Given the description of an element on the screen output the (x, y) to click on. 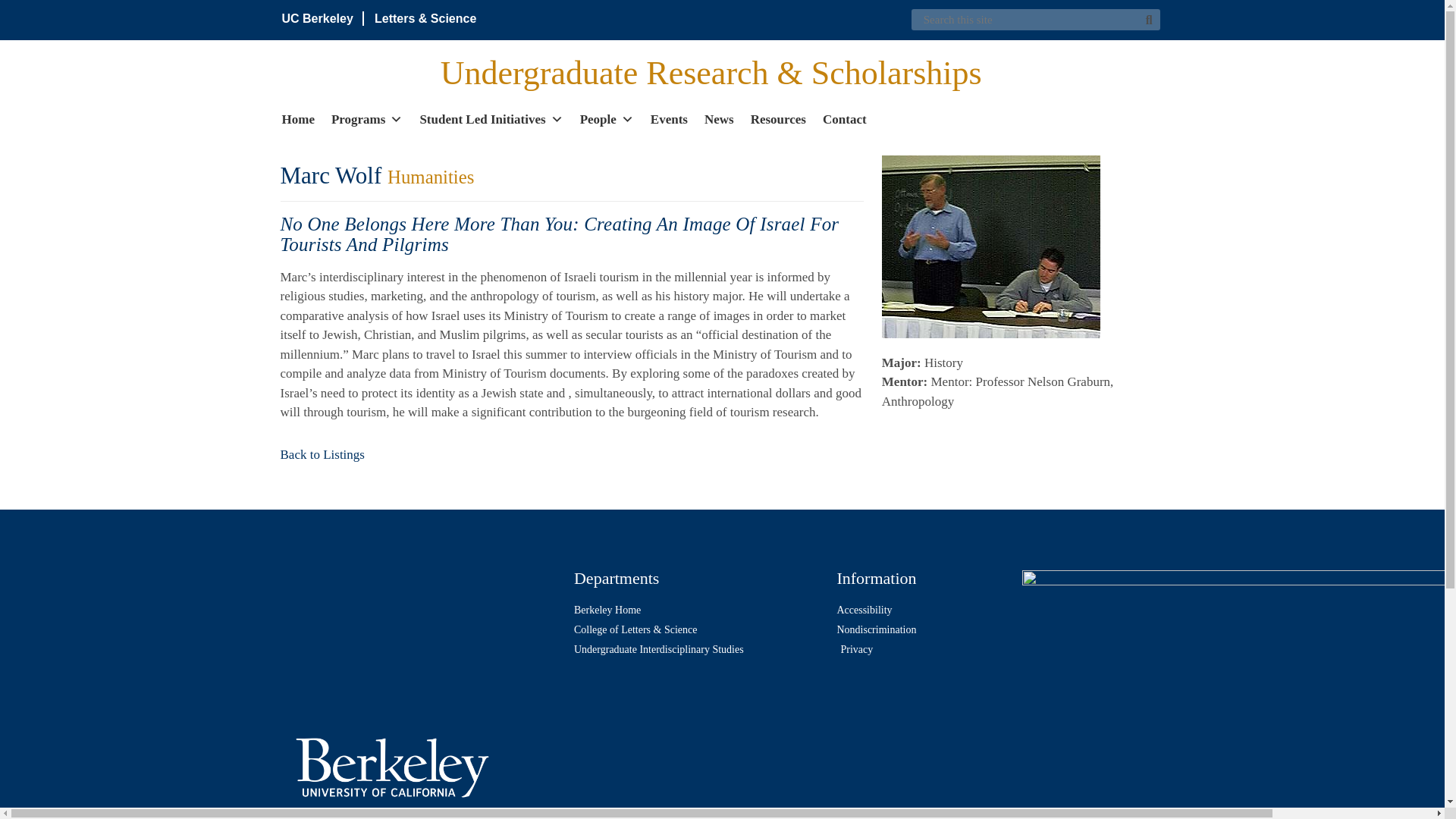
Home (298, 118)
Student Led Initiatives (490, 118)
Back to Listings (323, 454)
Berkeley Home (697, 609)
Events (668, 118)
People (606, 118)
Programs (367, 118)
Contact (844, 118)
Resources (778, 118)
UC Berkeley (317, 18)
